Given the description of an element on the screen output the (x, y) to click on. 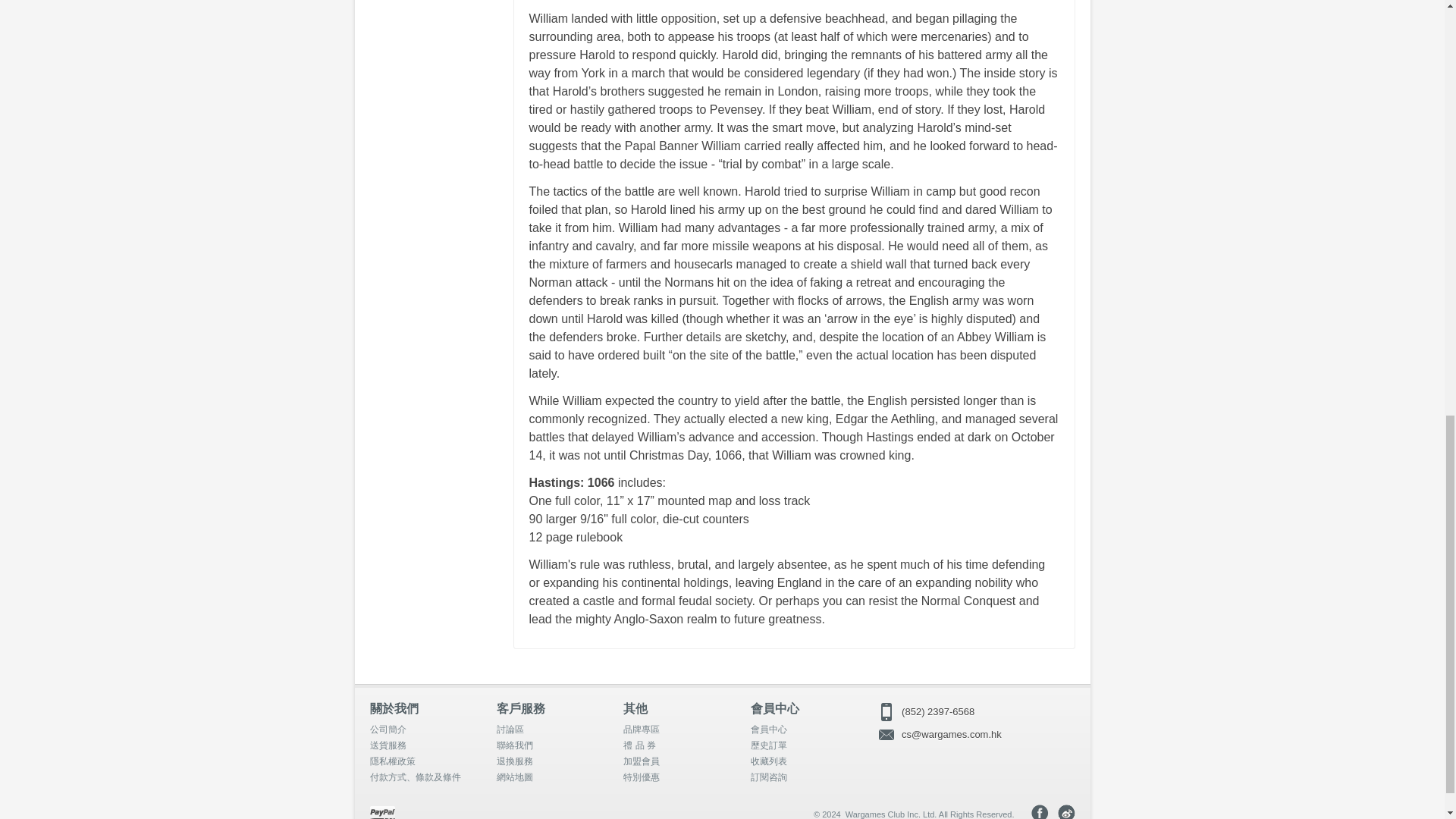
Email (975, 734)
Phone (975, 711)
